Given the description of an element on the screen output the (x, y) to click on. 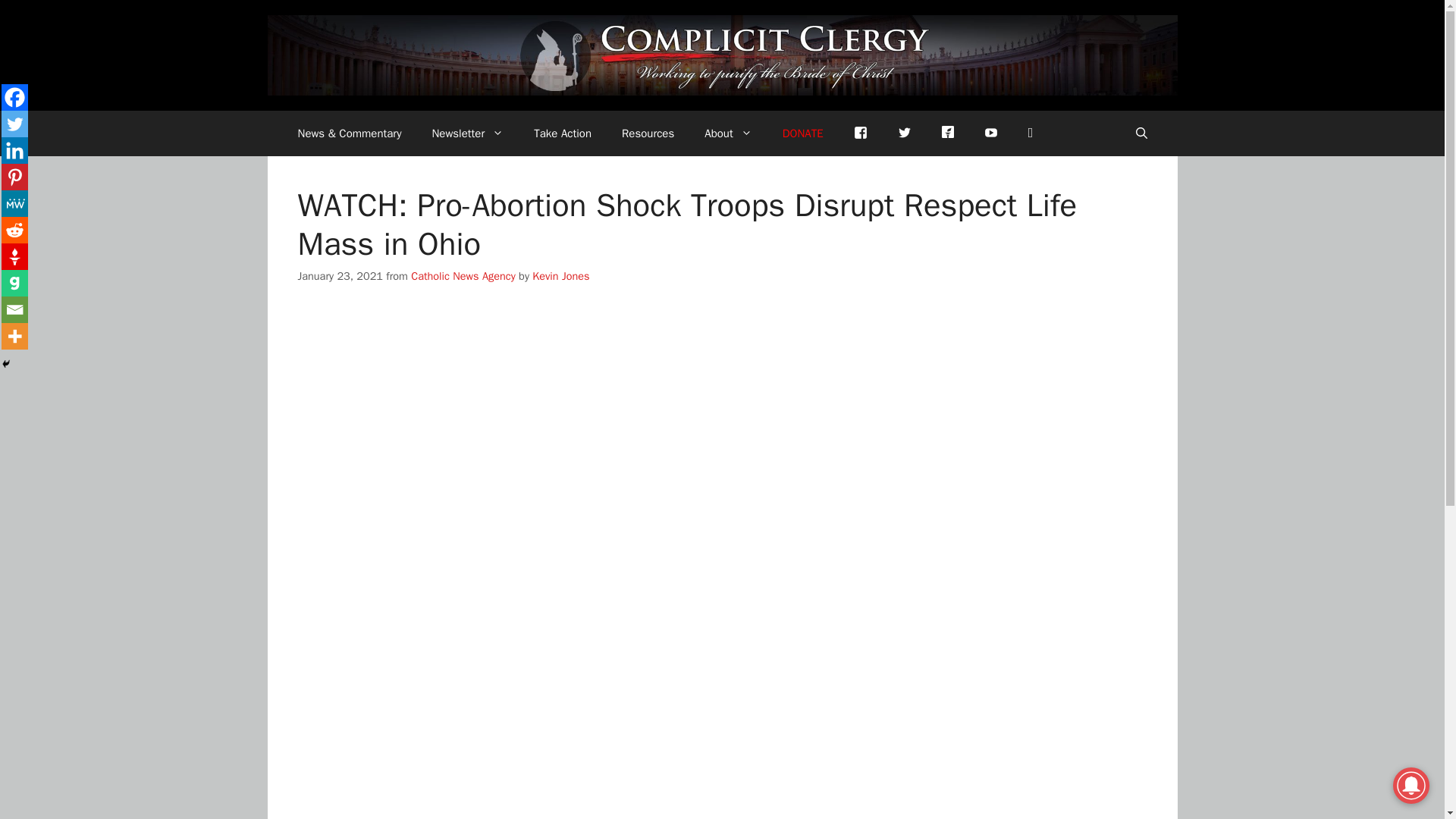
Twitter (904, 133)
YouTube (991, 133)
Facebook (860, 133)
Kevin Jones (560, 275)
Newsletter (467, 133)
Take Action (562, 133)
DONATE (802, 133)
Twitter (14, 123)
Catholic News Agency (462, 275)
Resources (647, 133)
Facebook (14, 97)
About (727, 133)
Gettr (947, 130)
